Given the description of an element on the screen output the (x, y) to click on. 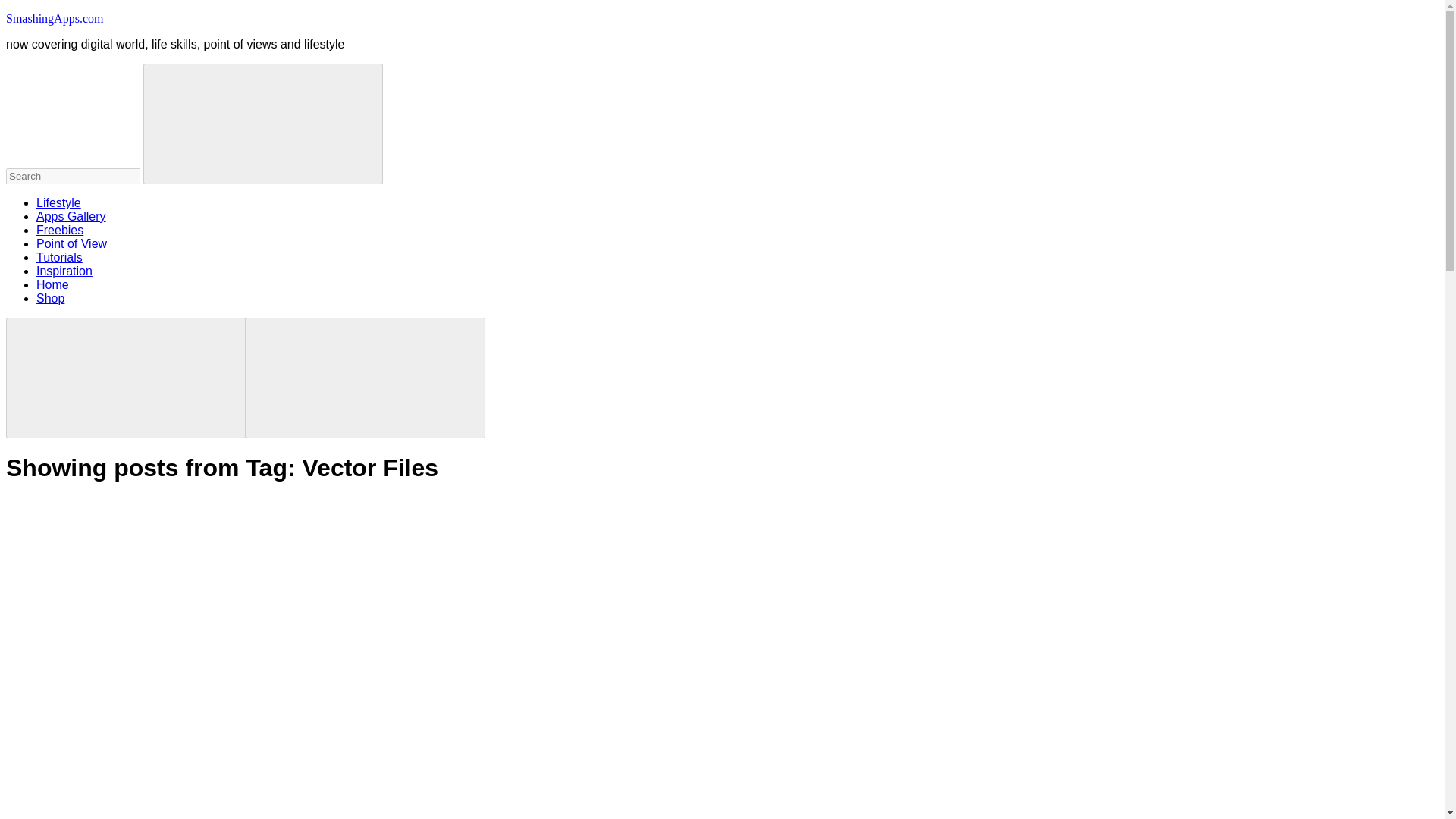
Freebies (59, 229)
Tutorials (59, 256)
Point of View (71, 243)
Shop (50, 297)
Search for: (72, 176)
Home (52, 284)
show all posts (118, 608)
SmashingApps.com (54, 18)
Inspiration (64, 270)
Search (262, 123)
Lifestyle (58, 202)
Apps Gallery (71, 215)
